Given the description of an element on the screen output the (x, y) to click on. 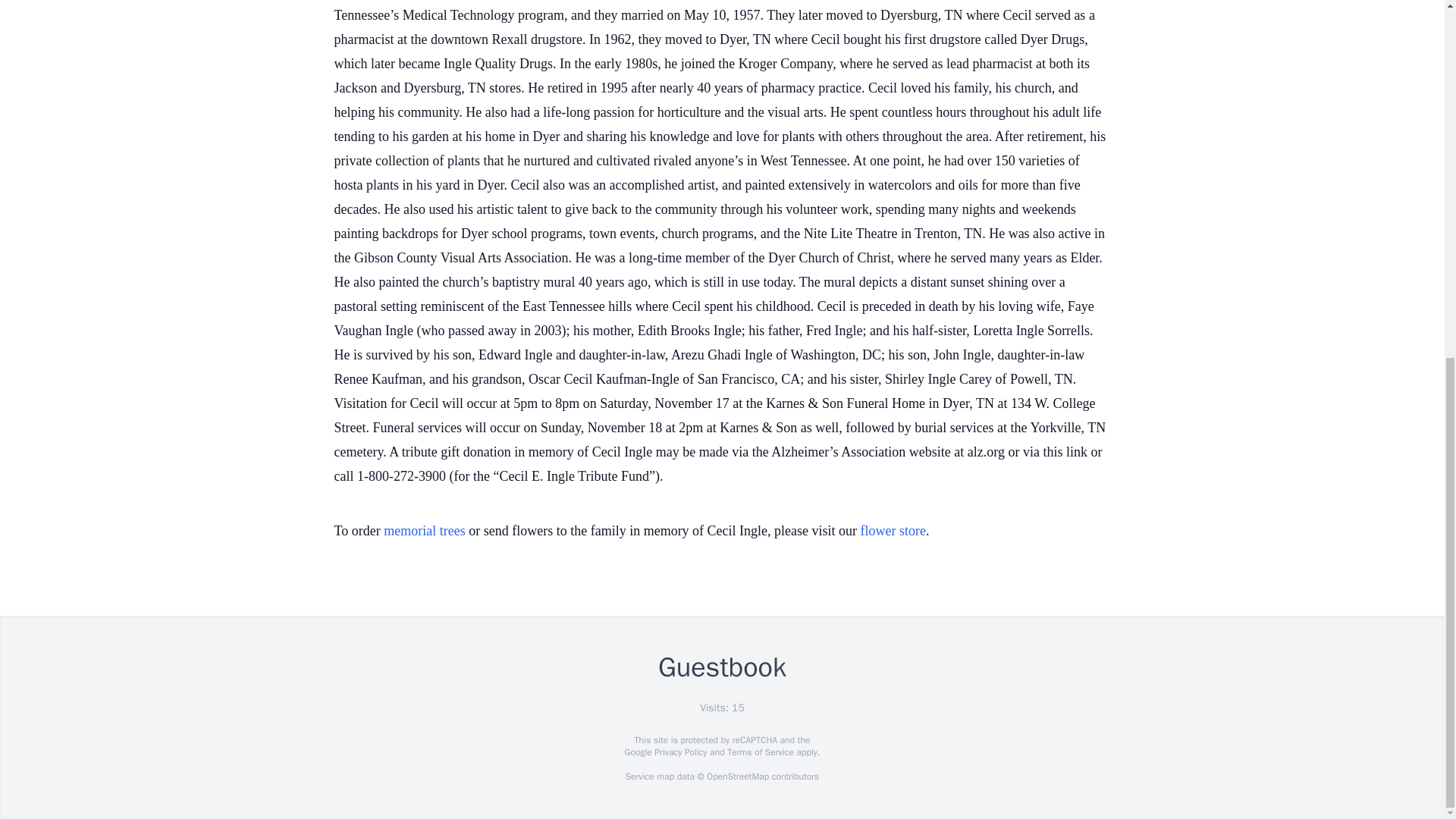
Terms of Service (759, 752)
memorial trees (424, 530)
flower store (893, 530)
Privacy Policy (679, 752)
OpenStreetMap (737, 776)
